Given the description of an element on the screen output the (x, y) to click on. 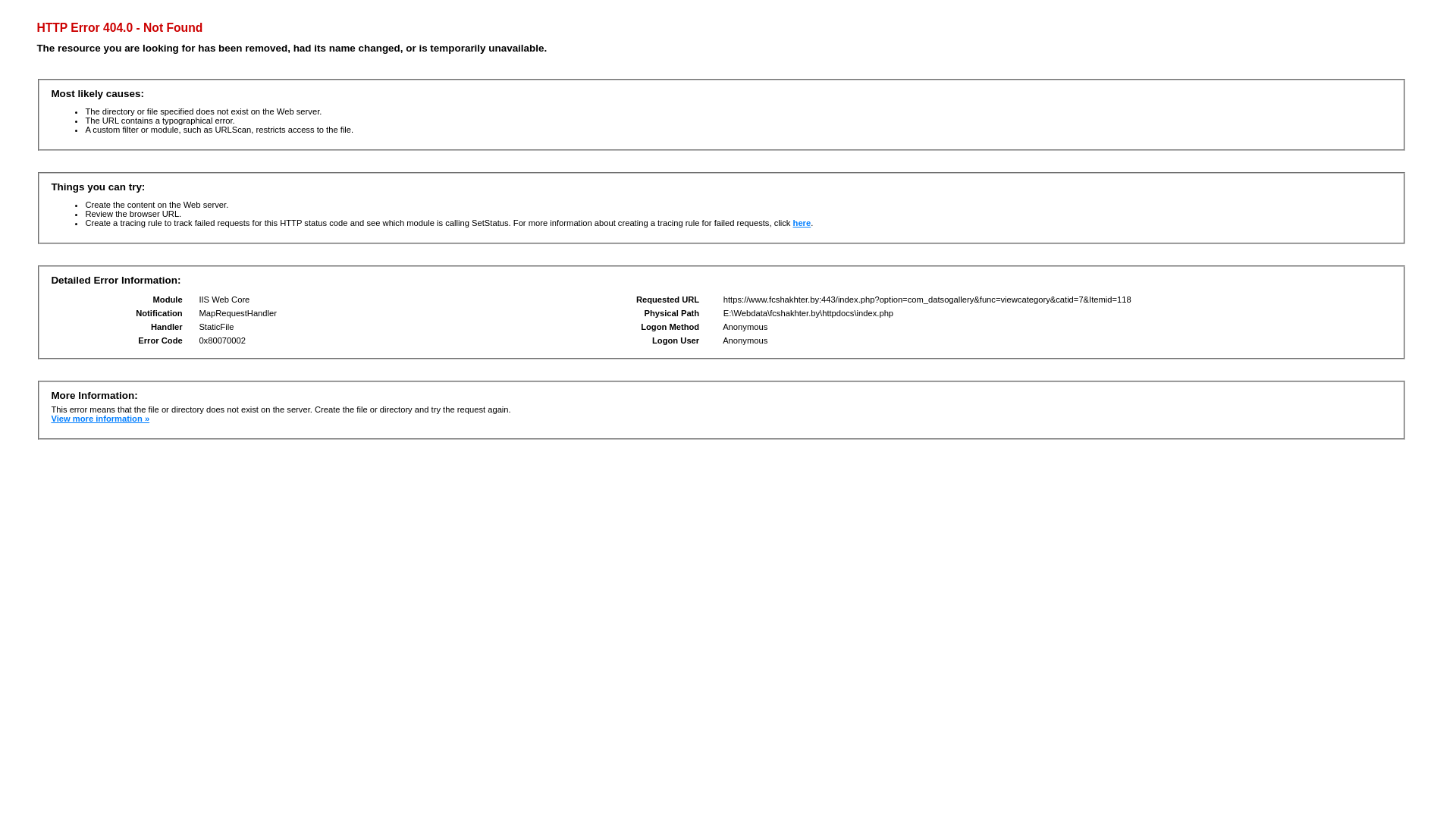
here Element type: text (802, 222)
